Given the description of an element on the screen output the (x, y) to click on. 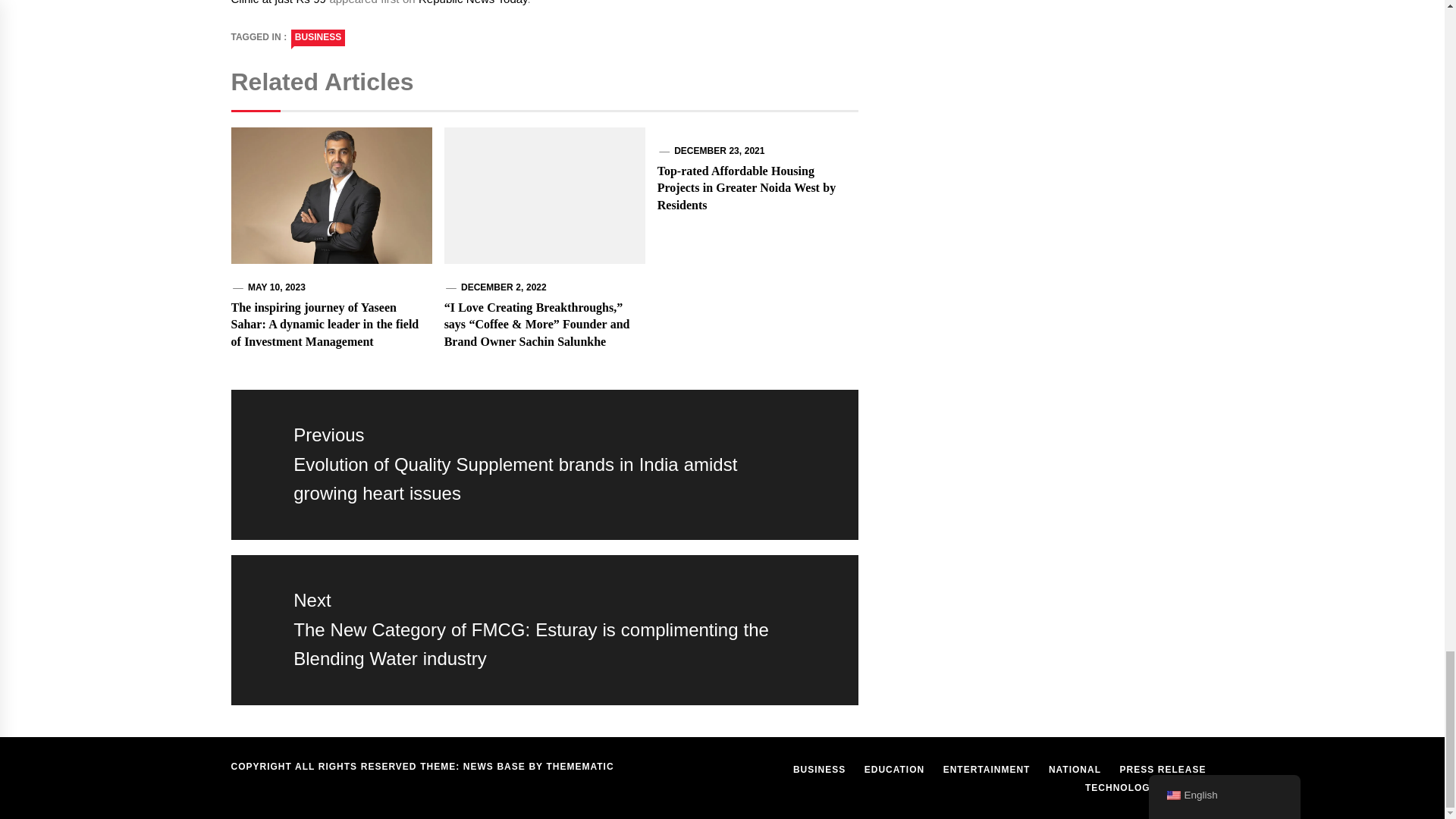
DECEMBER 2, 2022 (504, 286)
DECEMBER 23, 2021 (719, 150)
Republic News Today (473, 2)
MAY 10, 2023 (276, 286)
BUSINESS (318, 37)
